Given the description of an element on the screen output the (x, y) to click on. 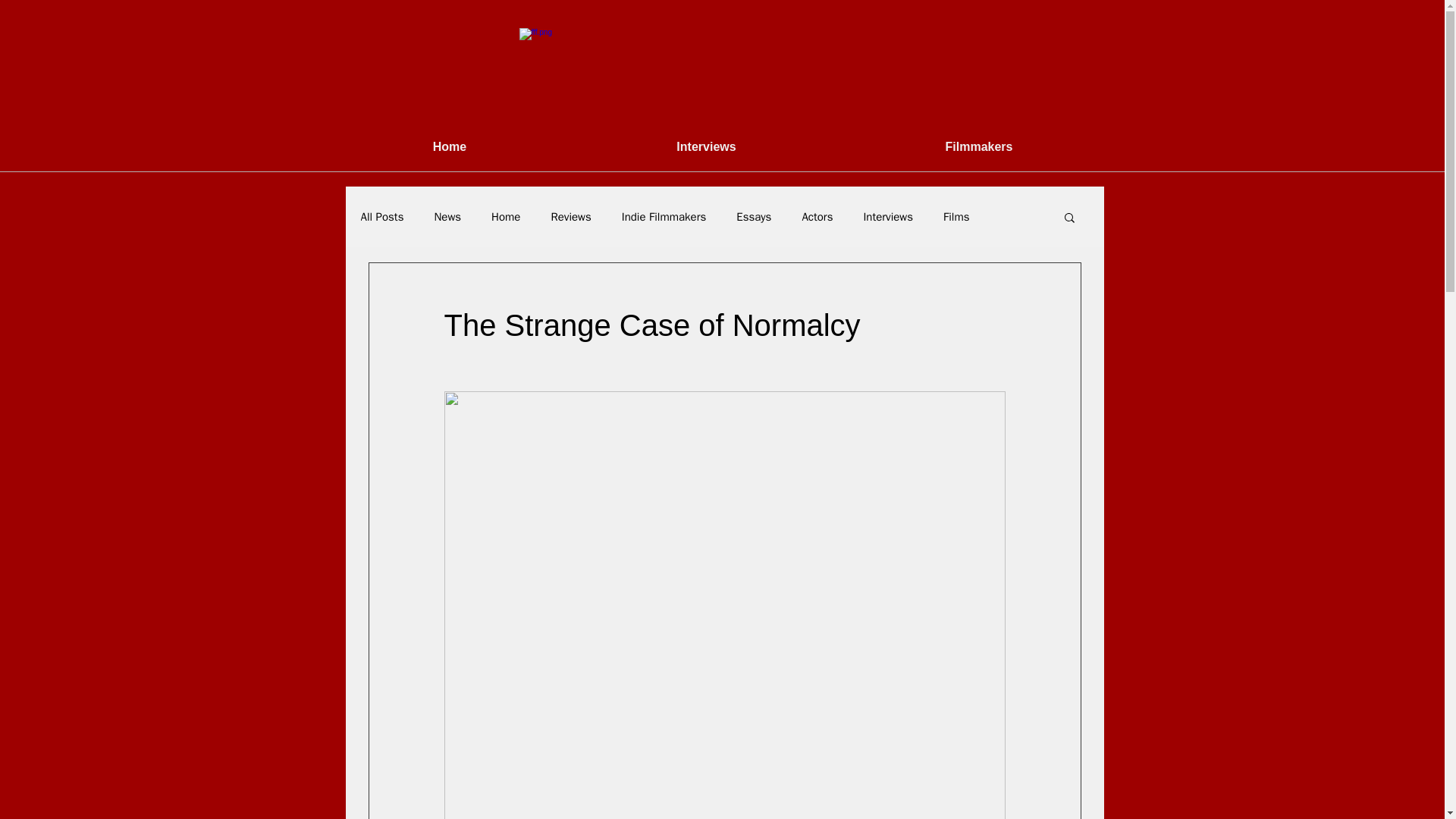
All Posts (382, 216)
Indie Filmmakers (663, 216)
Home (505, 216)
Home (449, 146)
Essays (753, 216)
Reviews (570, 216)
Films (956, 216)
Interviews (706, 146)
Actors (817, 216)
Interviews (887, 216)
Filmmakers (978, 146)
News (447, 216)
